Given the description of an element on the screen output the (x, y) to click on. 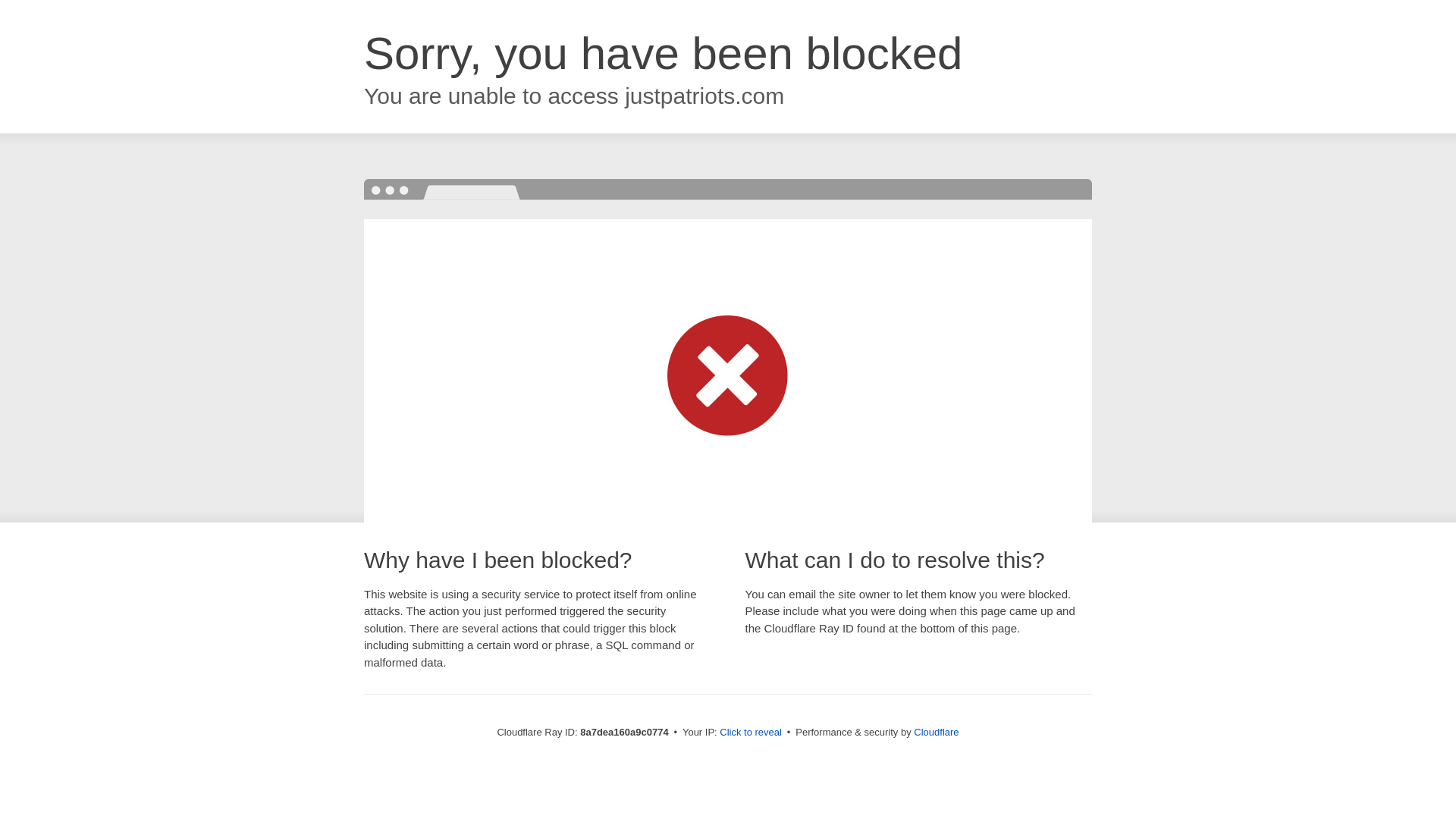
Click to reveal (750, 732)
Cloudflare (936, 731)
